Given the description of an element on the screen output the (x, y) to click on. 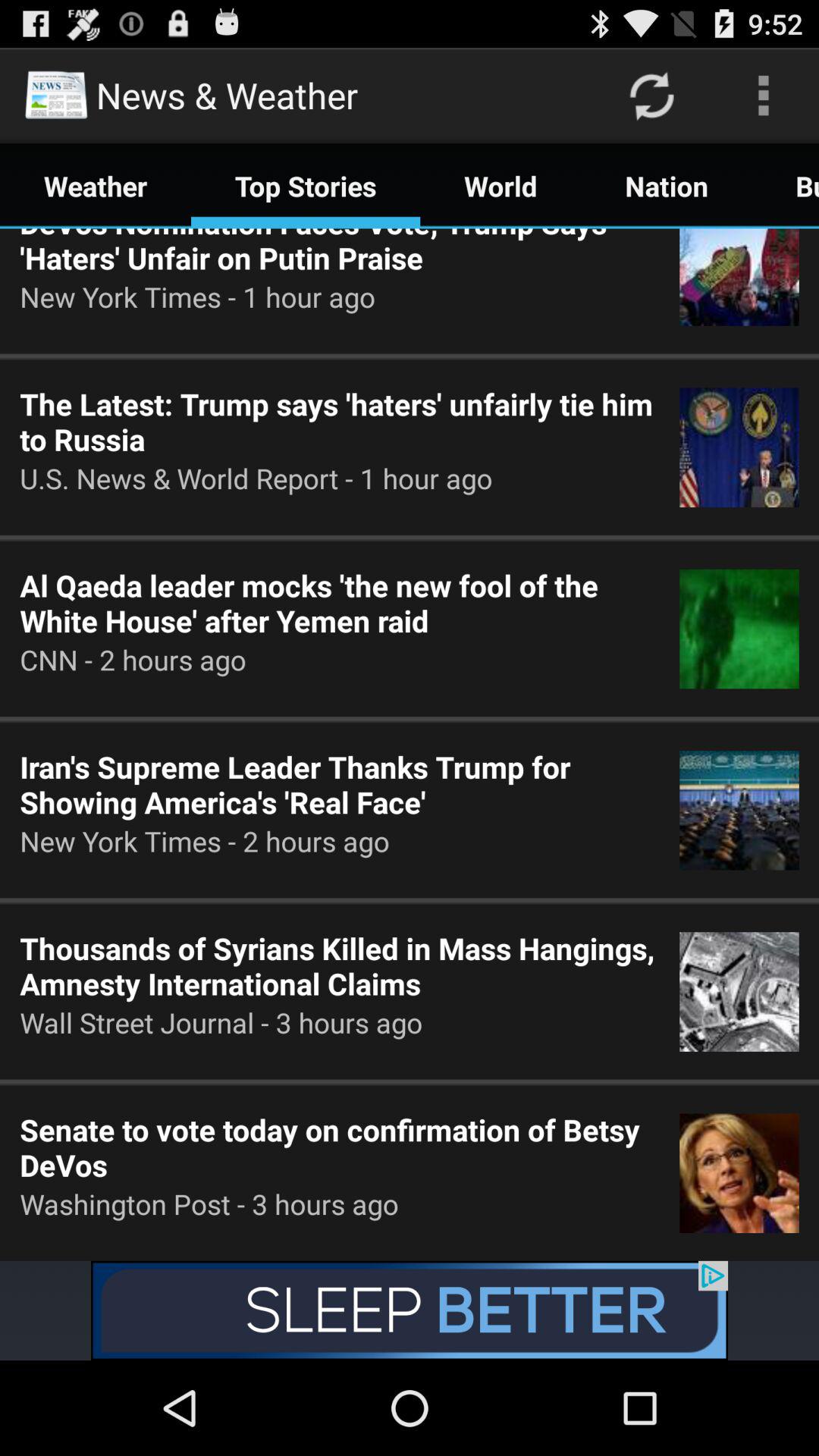
open app (409, 1310)
